Given the description of an element on the screen output the (x, y) to click on. 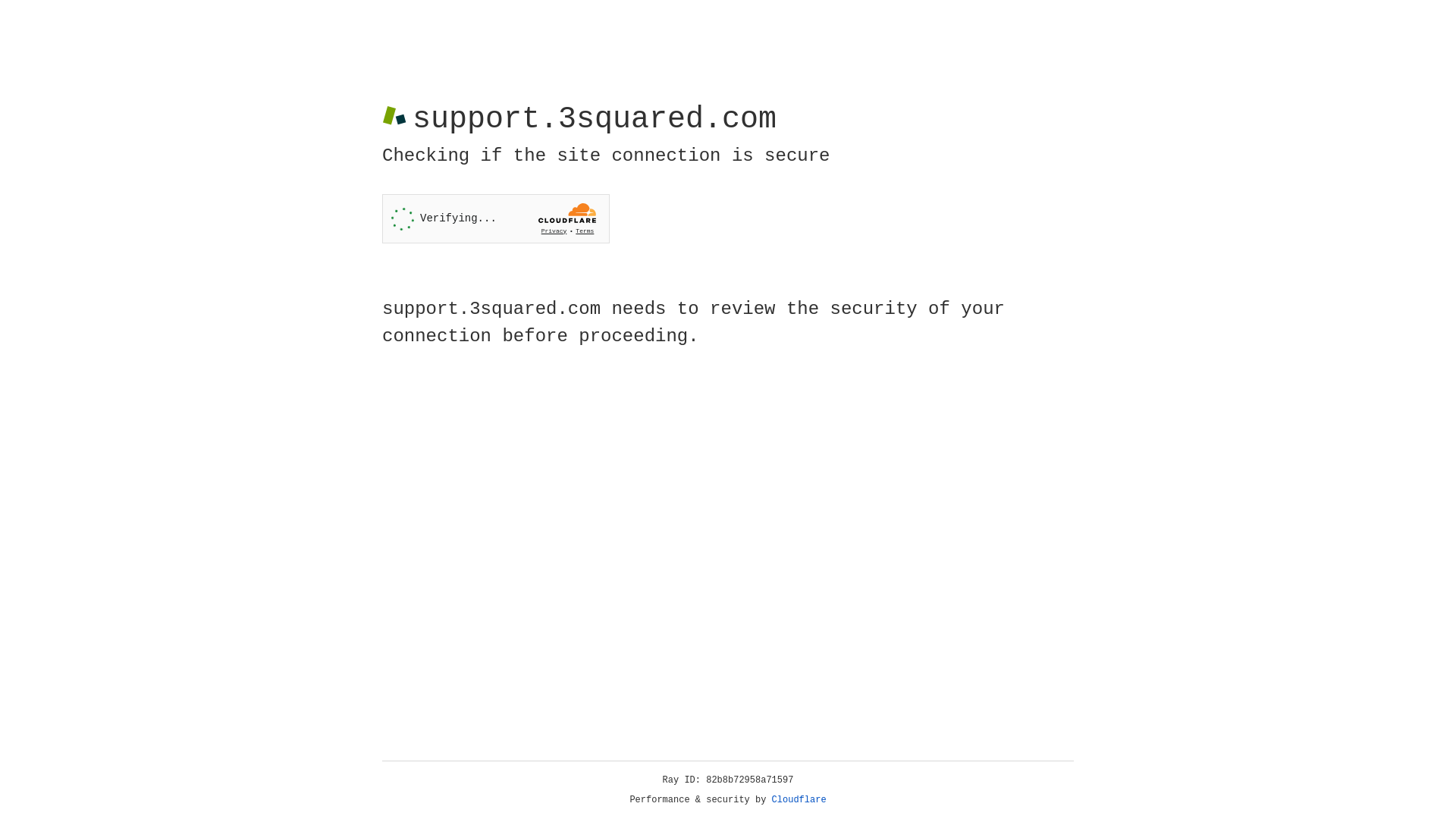
Cloudflare Element type: text (798, 799)
Widget containing a Cloudflare security challenge Element type: hover (495, 218)
